Given the description of an element on the screen output the (x, y) to click on. 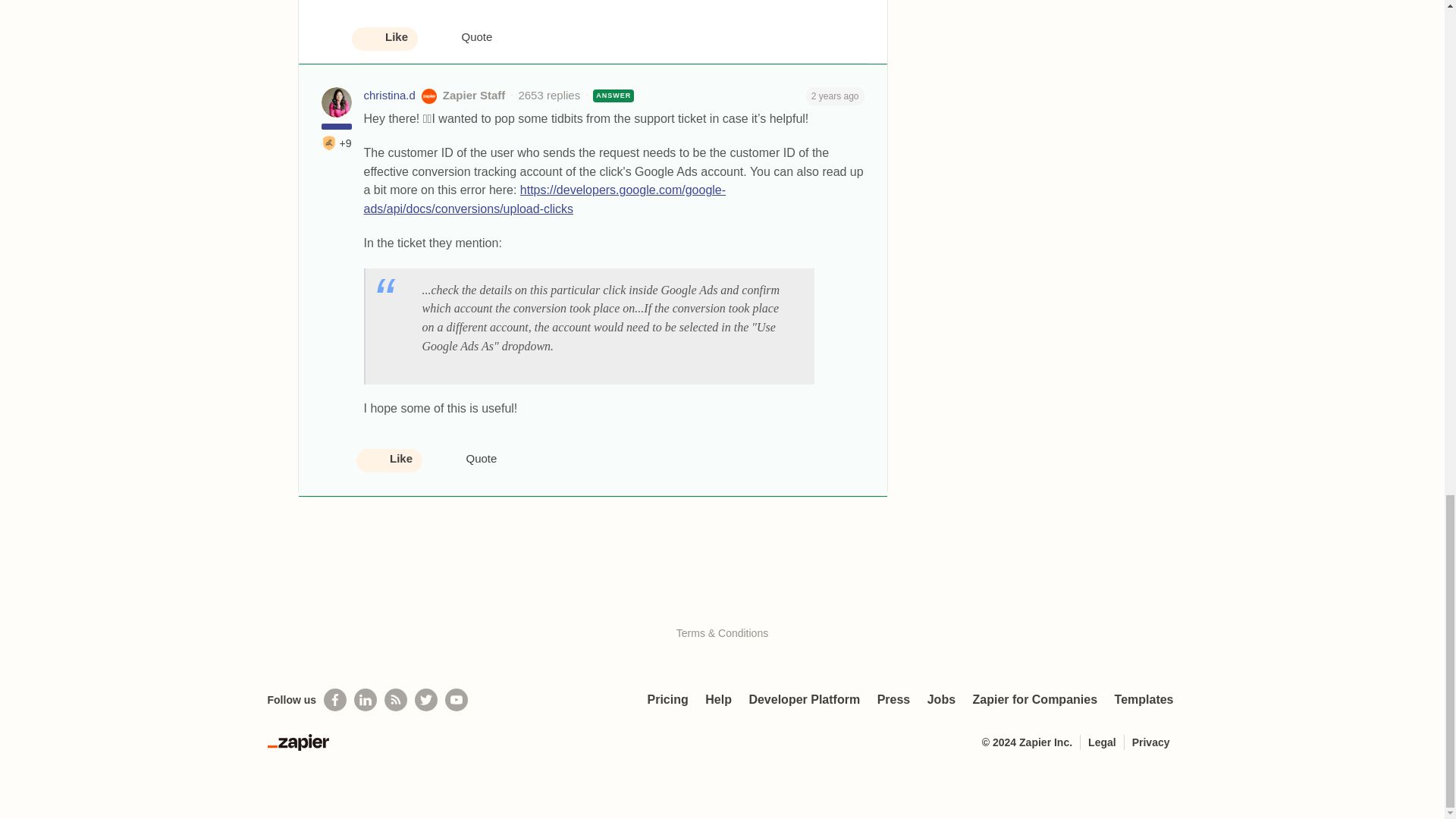
Follow us on Facebook (334, 699)
Subscribe to our blog (395, 699)
First Best Answer (328, 142)
See helpful Zapier videos on Youtube (456, 699)
christina.d (389, 95)
Follow us on LinkedIn (365, 699)
Visit Gainsight.com (722, 601)
